Given the description of an element on the screen output the (x, y) to click on. 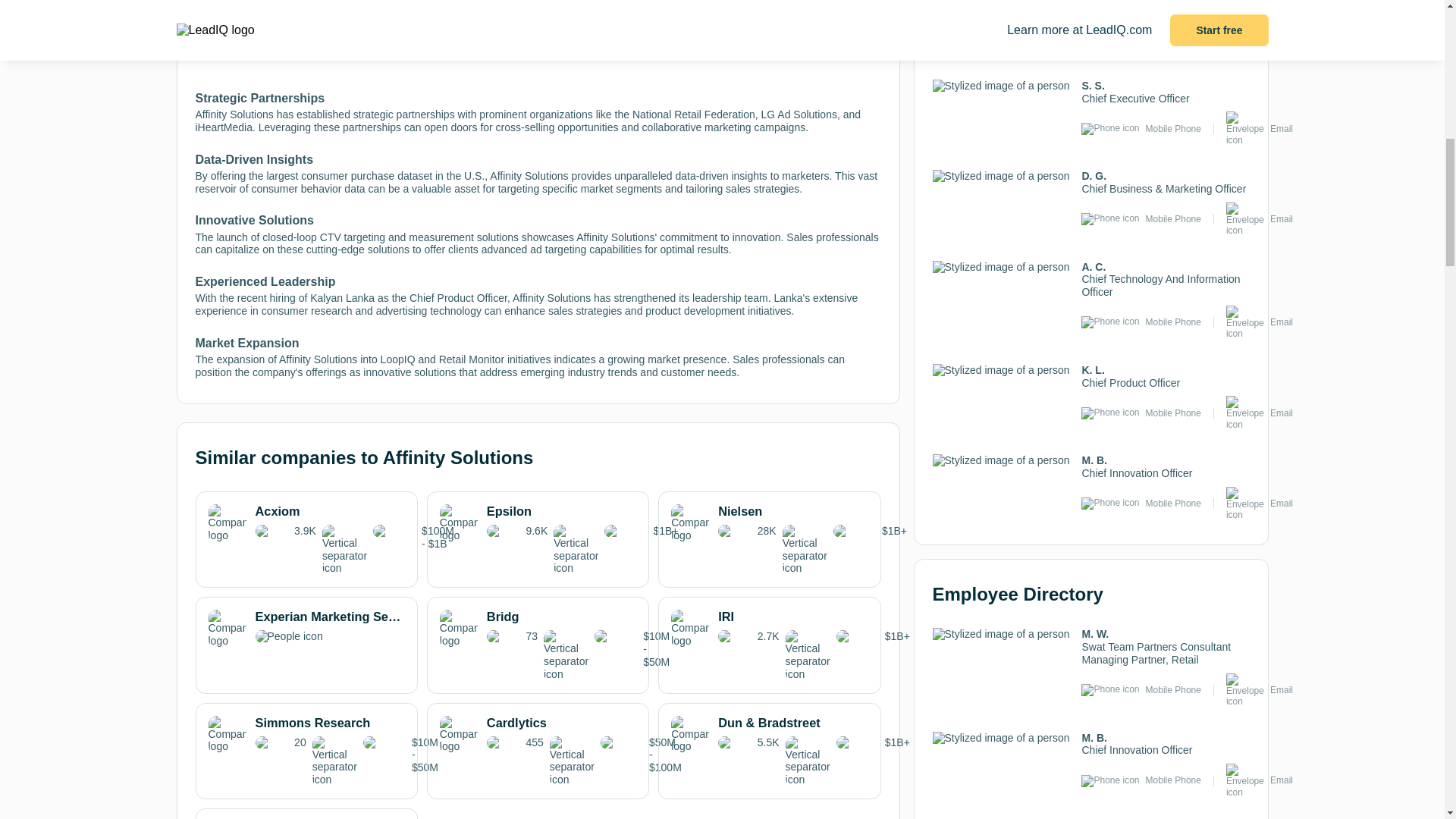
Experian Marketing Services (306, 628)
